Given the description of an element on the screen output the (x, y) to click on. 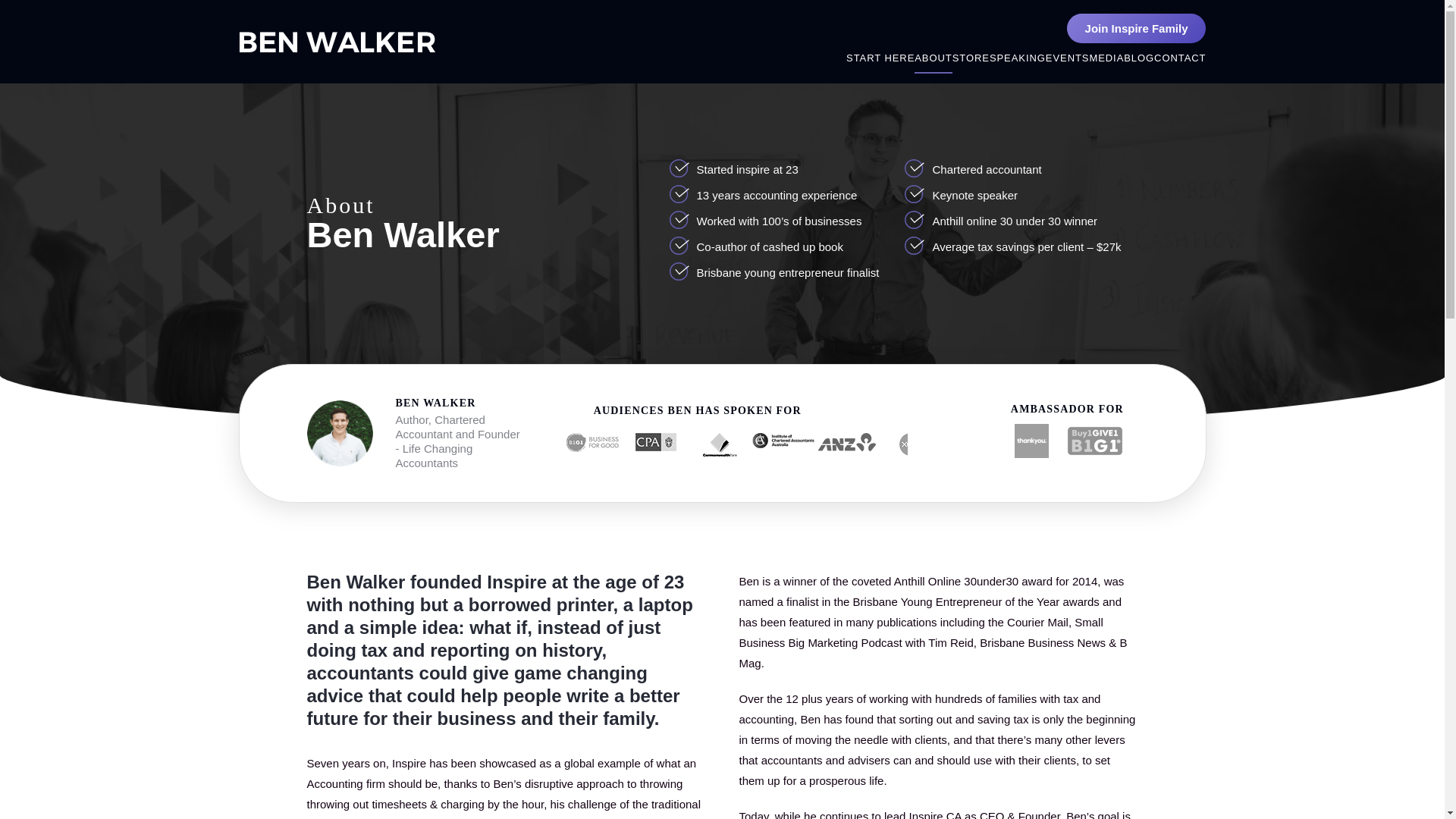
BLOG (1139, 58)
Blog (1139, 58)
EVENTS (1067, 58)
ABOUT (933, 58)
START HERE (879, 58)
Speaking (1017, 58)
Join Inspire Family (1137, 28)
About (933, 58)
STORE (971, 58)
Search (1143, 35)
Events (1067, 58)
Media (1106, 58)
MEDIA (1106, 58)
Contact (1179, 58)
SPEAKING (1017, 58)
